Given the description of an element on the screen output the (x, y) to click on. 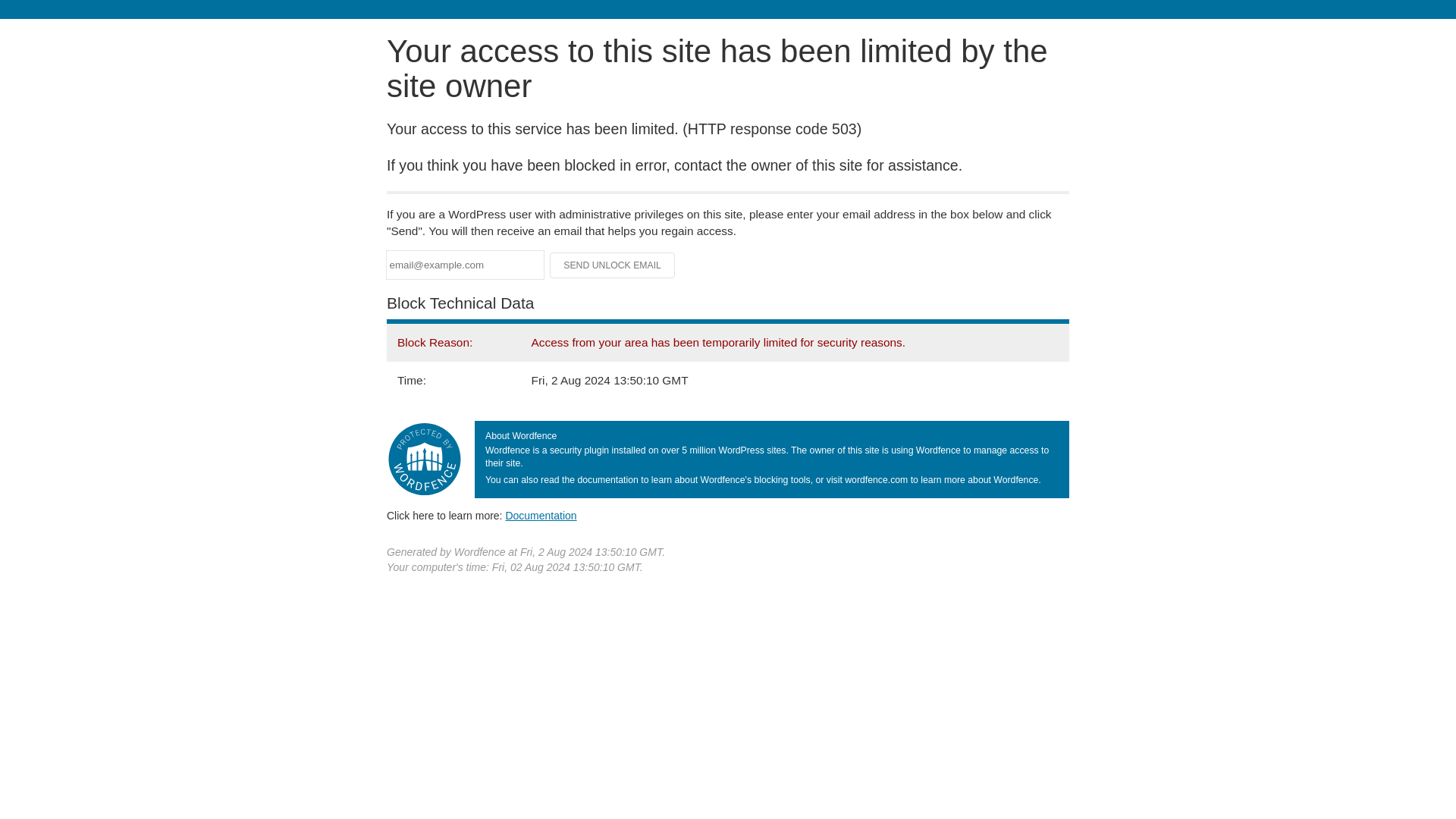
Send Unlock Email (612, 265)
Send Unlock Email (612, 265)
Documentation (540, 515)
